Given the description of an element on the screen output the (x, y) to click on. 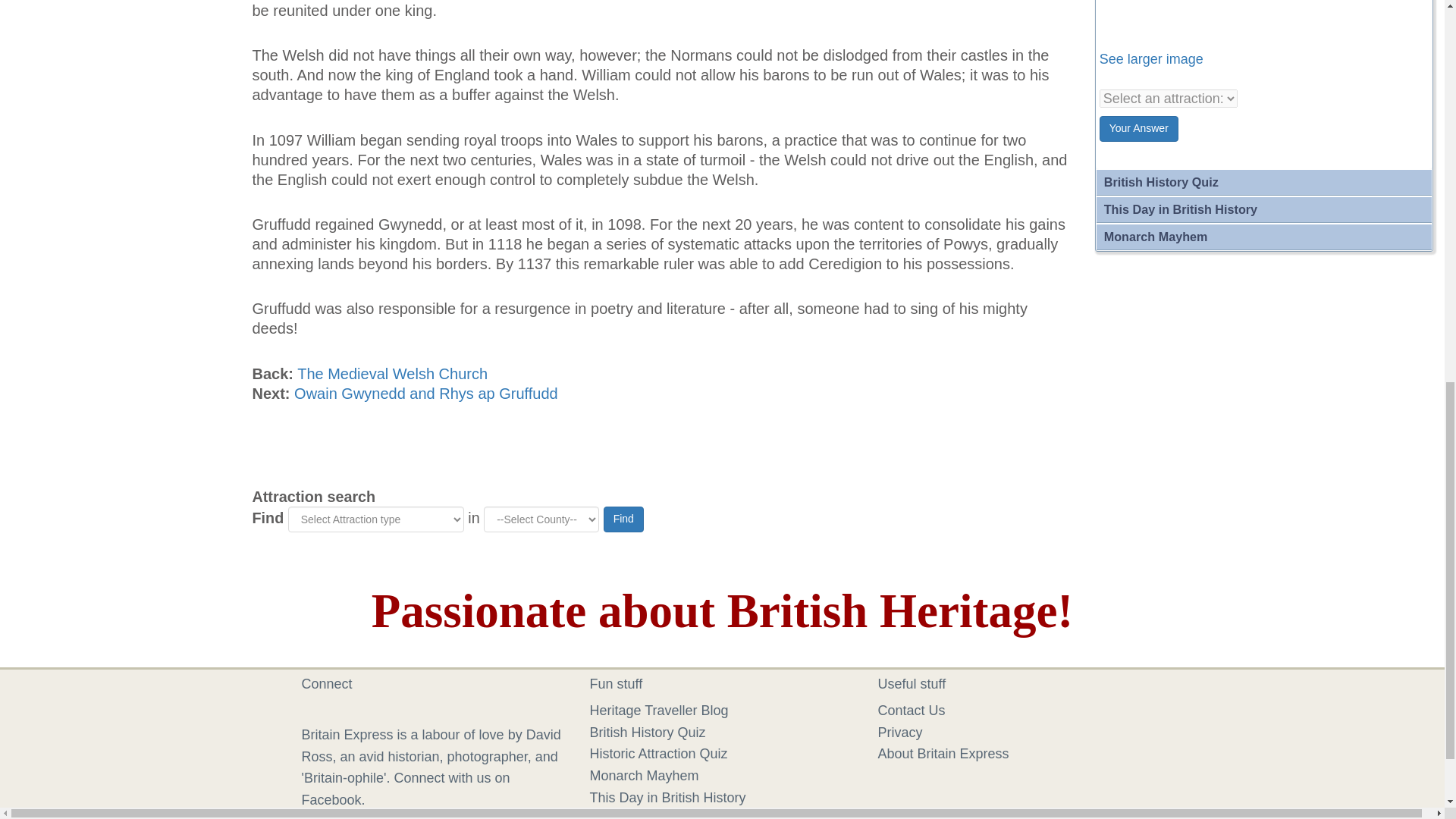
Owain Gwynedd and Rhys ap Gruffudd (425, 393)
The Medieval Welsh Church (392, 373)
Find (623, 519)
The Medieval Welsh Church (392, 373)
Your Answer (1138, 128)
Owain Gwynedd and Rhys ap Gruffudd (425, 393)
Britain Express on Facebook (313, 710)
